Given the description of an element on the screen output the (x, y) to click on. 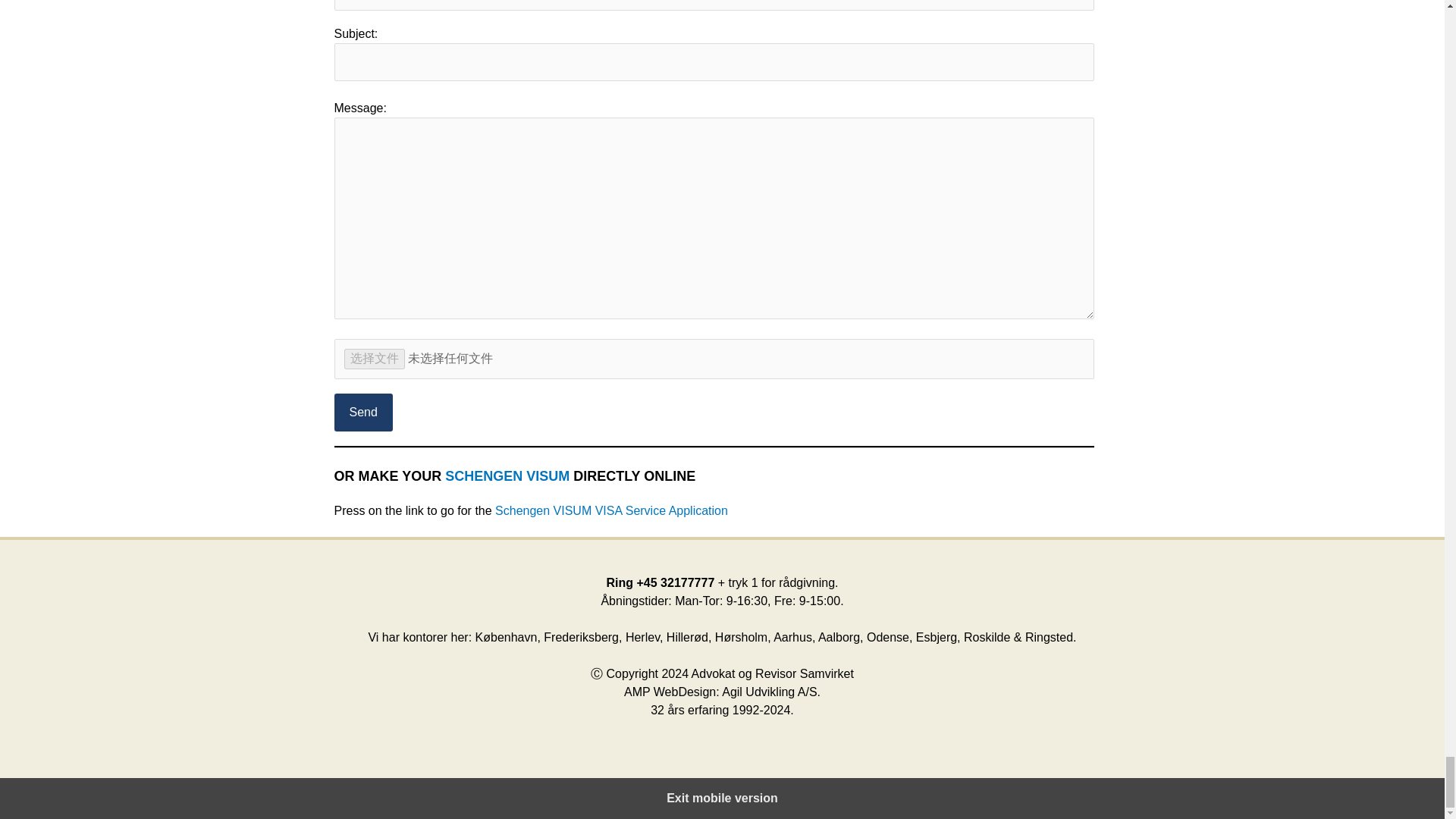
LinkedIn Profile (713, 5)
Send (362, 412)
